Given the description of an element on the screen output the (x, y) to click on. 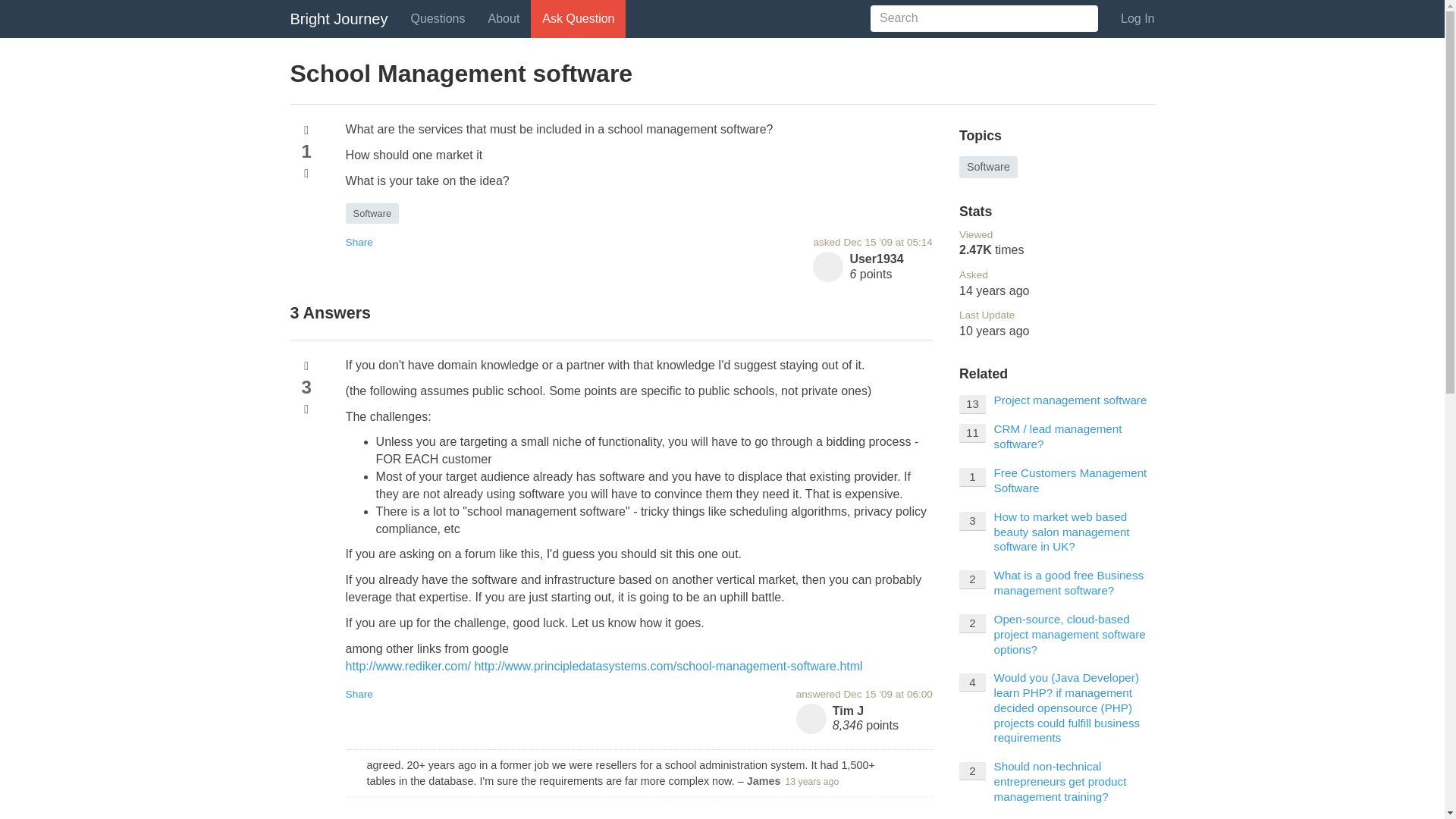
Free Customers Management Software (1070, 480)
Questions (437, 18)
Software (988, 167)
Bright Journey (338, 18)
You need to be logged in to vote (306, 366)
About (504, 18)
Ask Question (578, 18)
You need to be logged in to vote (306, 130)
Share (359, 242)
You need to be logged in to vote (306, 409)
